Given the description of an element on the screen output the (x, y) to click on. 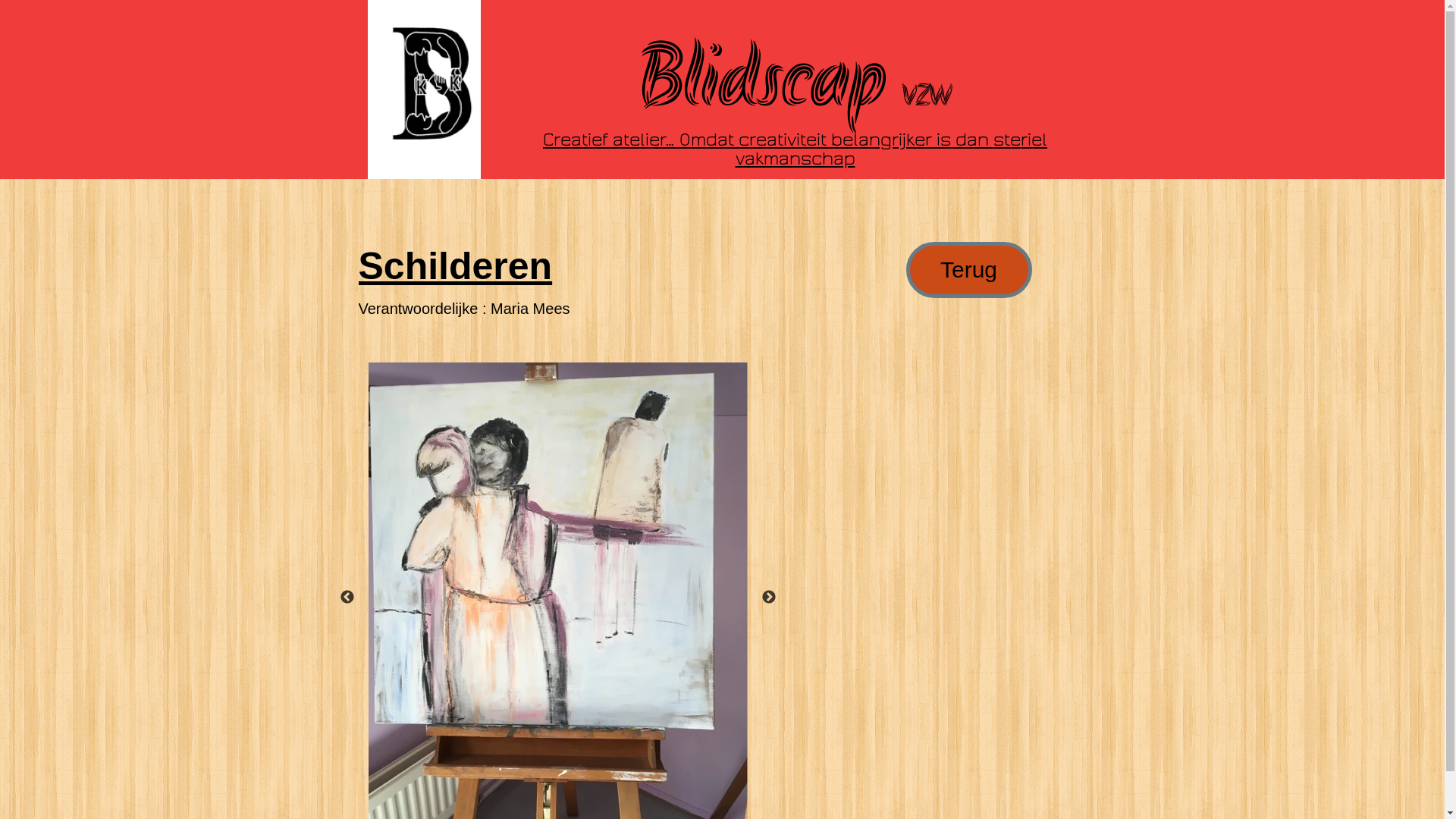
Terug Element type: text (969, 280)
VZW Element type: text (925, 96)
Blidscap Element type: text (770, 79)
Next Element type: text (768, 597)
Previous Element type: text (346, 597)
